Given the description of an element on the screen output the (x, y) to click on. 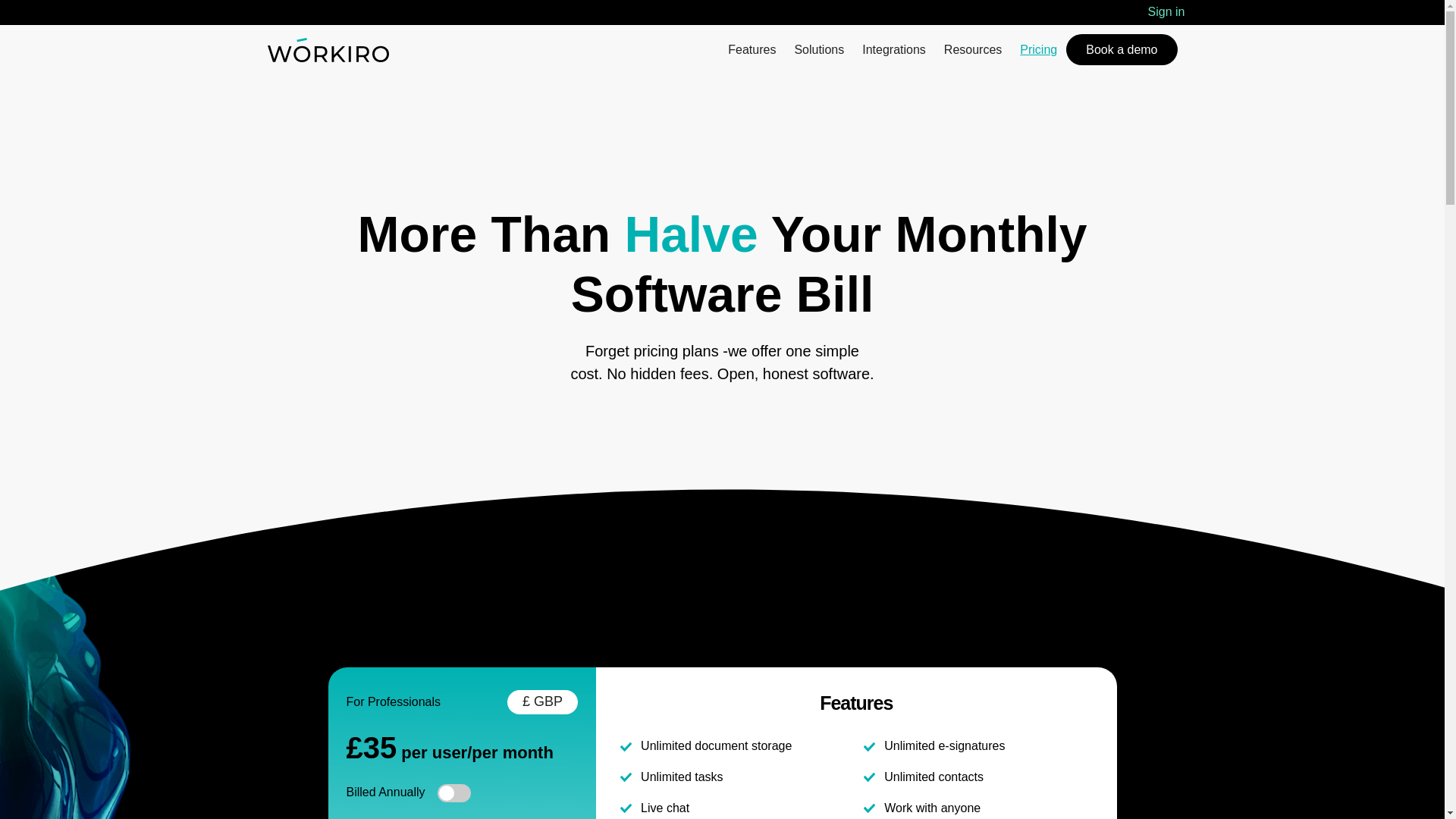
Book a demo (1120, 49)
Pricing (1037, 49)
